Given the description of an element on the screen output the (x, y) to click on. 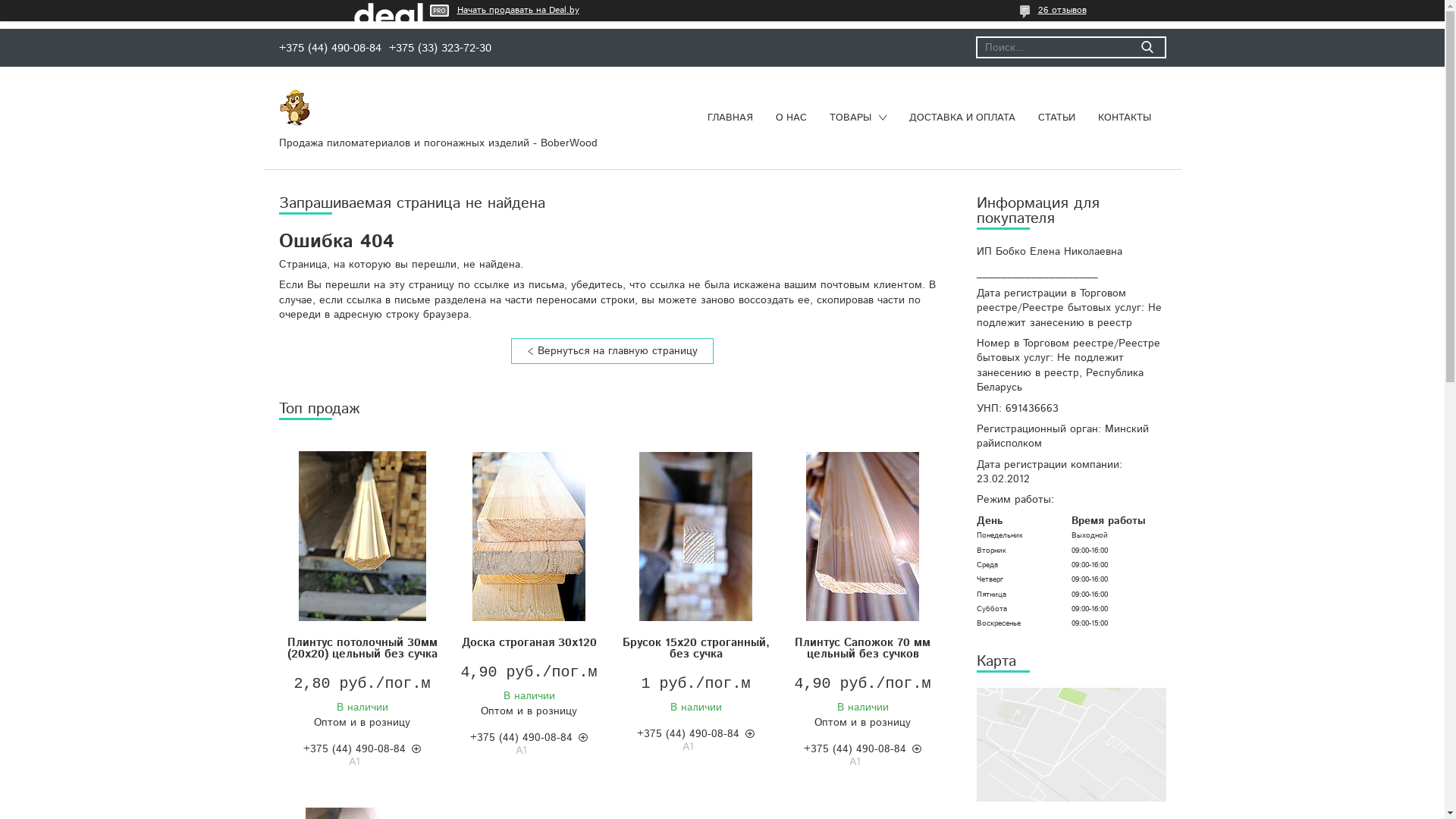
BoberWood Element type: hover (294, 106)
